Given the description of an element on the screen output the (x, y) to click on. 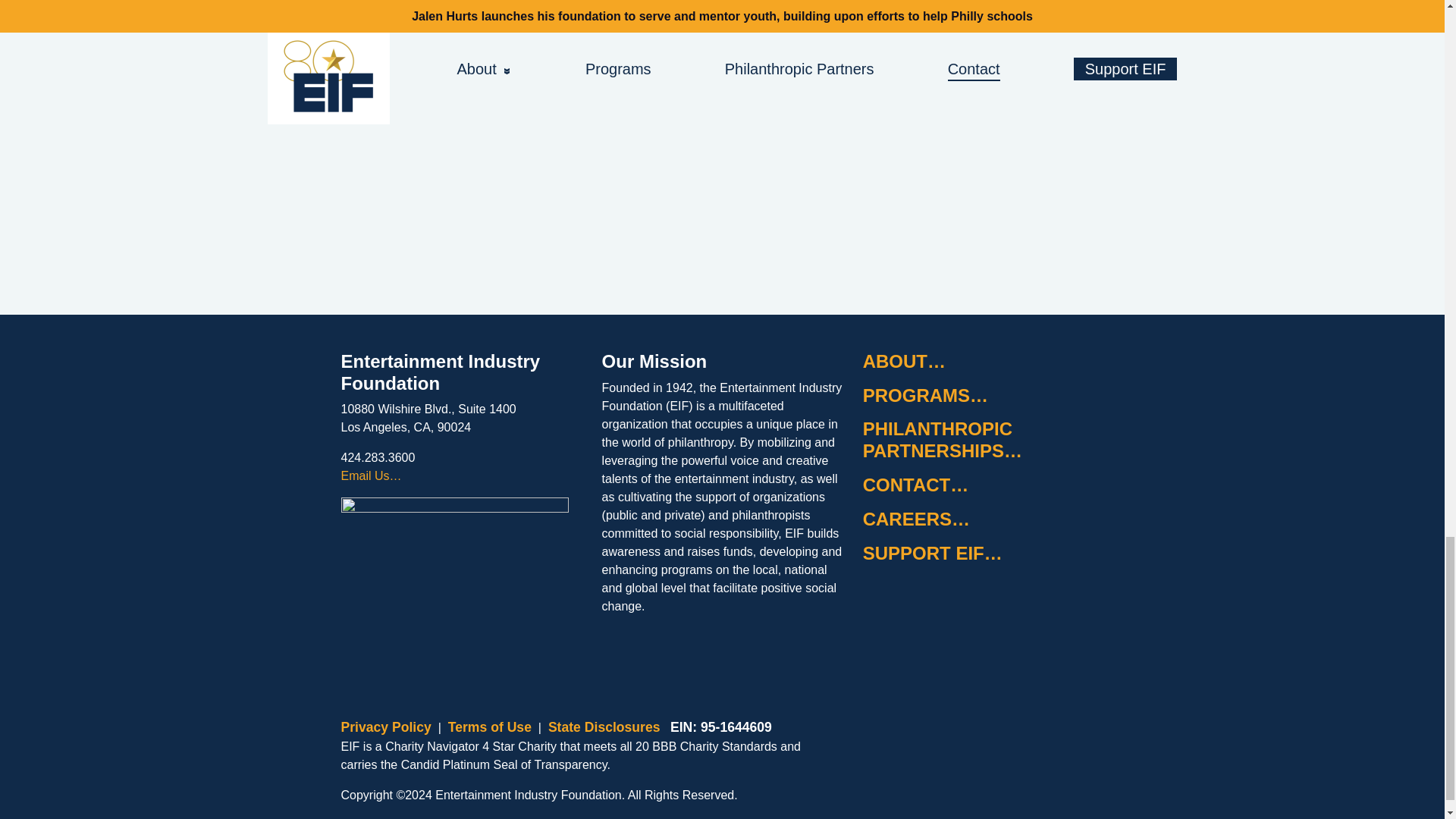
Charity Navigator (901, 632)
Instagram (472, 655)
Facebook (416, 655)
Better Business Bureau (976, 632)
Twitter (359, 655)
